Given the description of an element on the screen output the (x, y) to click on. 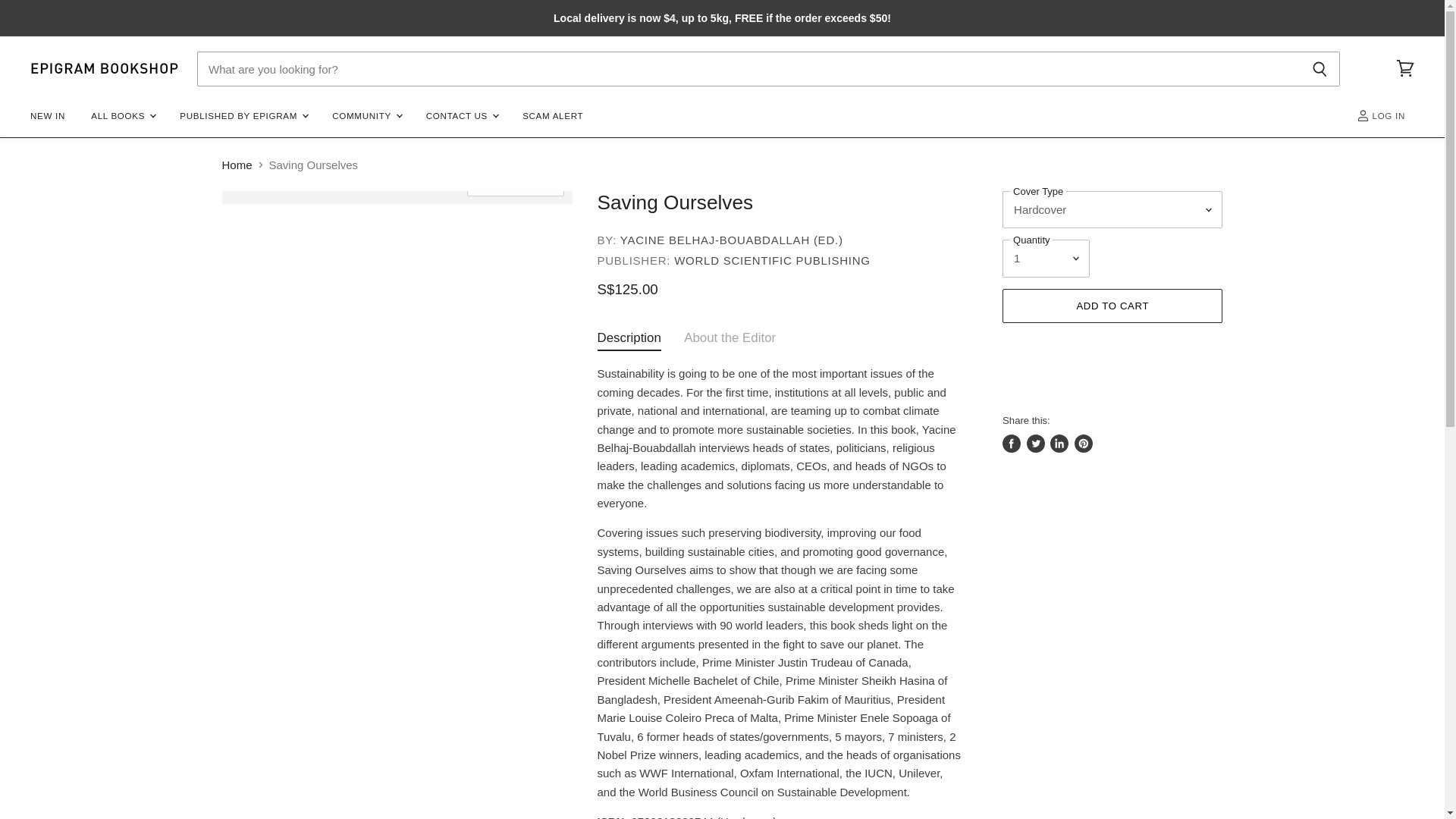
ALL BOOKS (122, 115)
NEW IN (47, 115)
ACCOUNT ICON (1363, 115)
View cart (1405, 68)
